Given the description of an element on the screen output the (x, y) to click on. 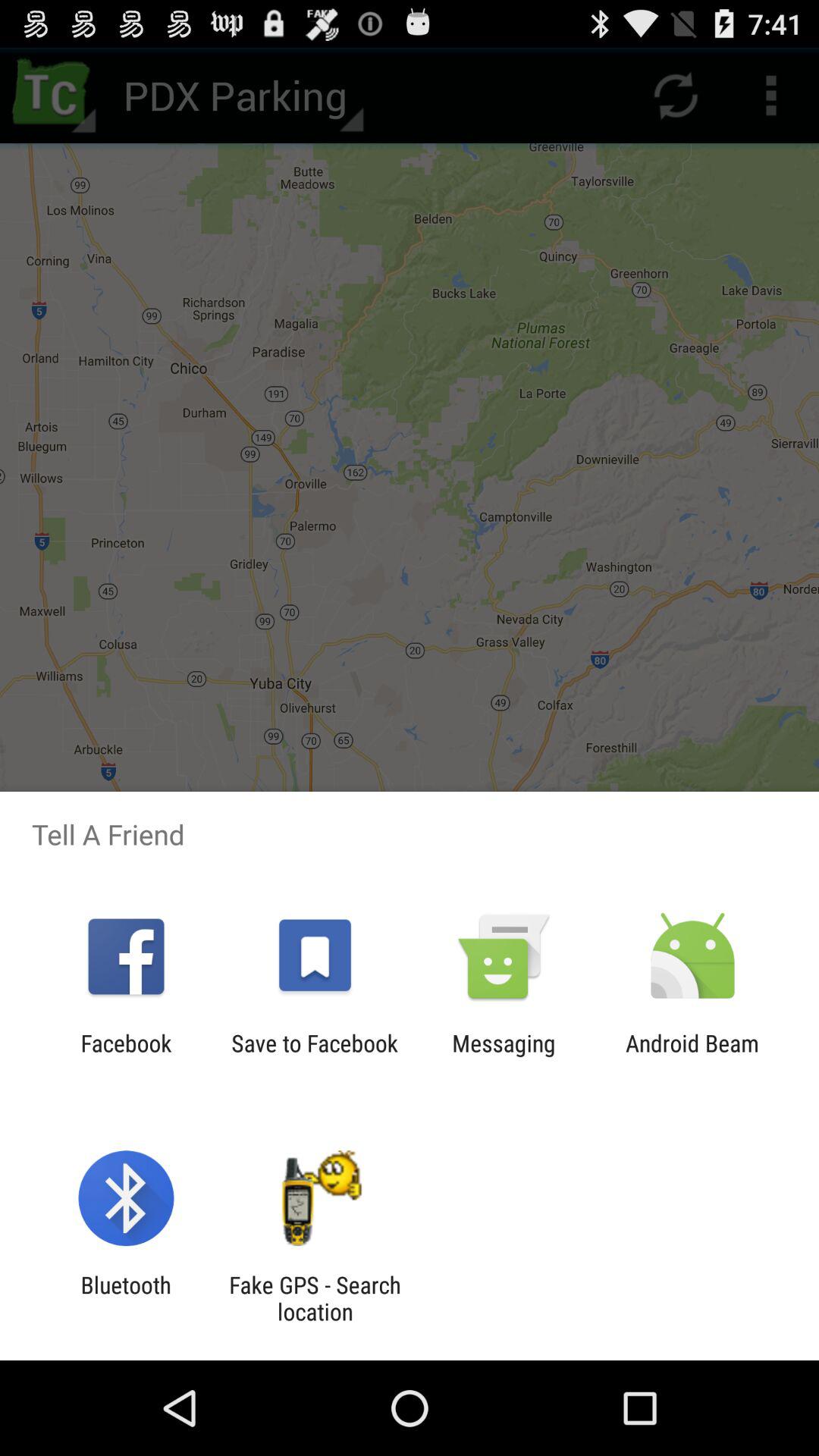
open icon next to the facebook (314, 1056)
